Given the description of an element on the screen output the (x, y) to click on. 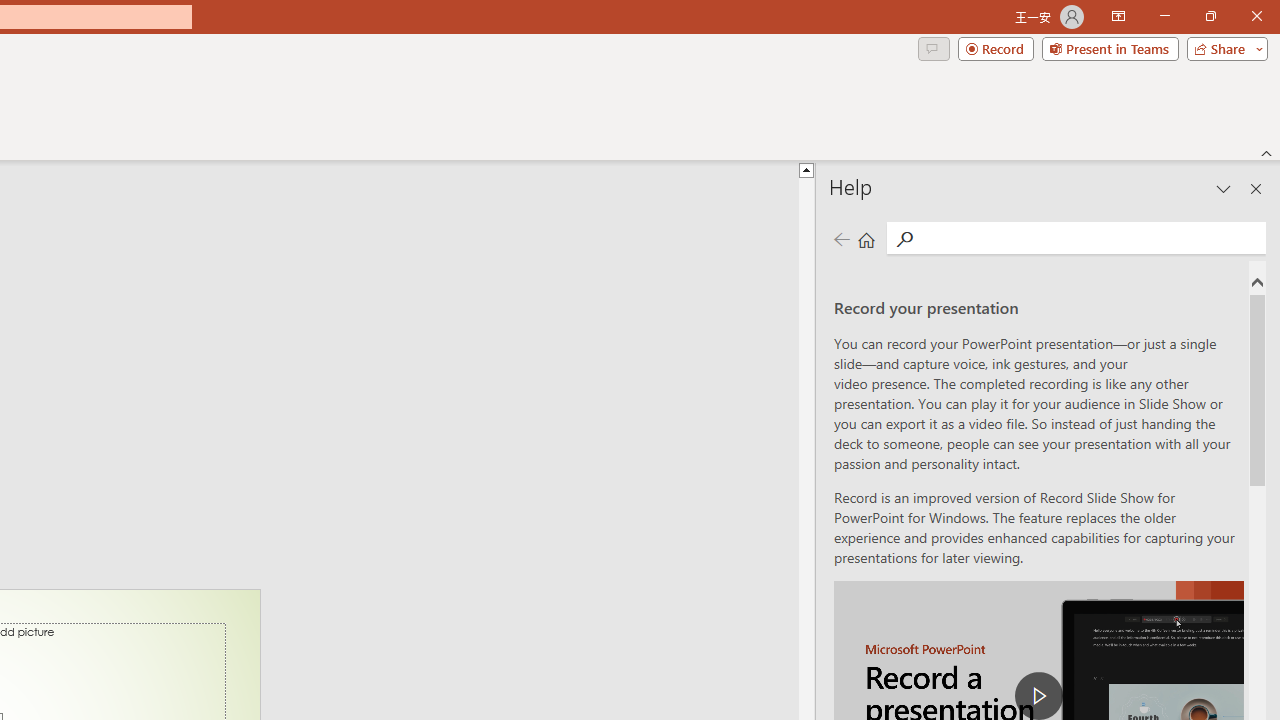
Search (1089, 237)
